Given the description of an element on the screen output the (x, y) to click on. 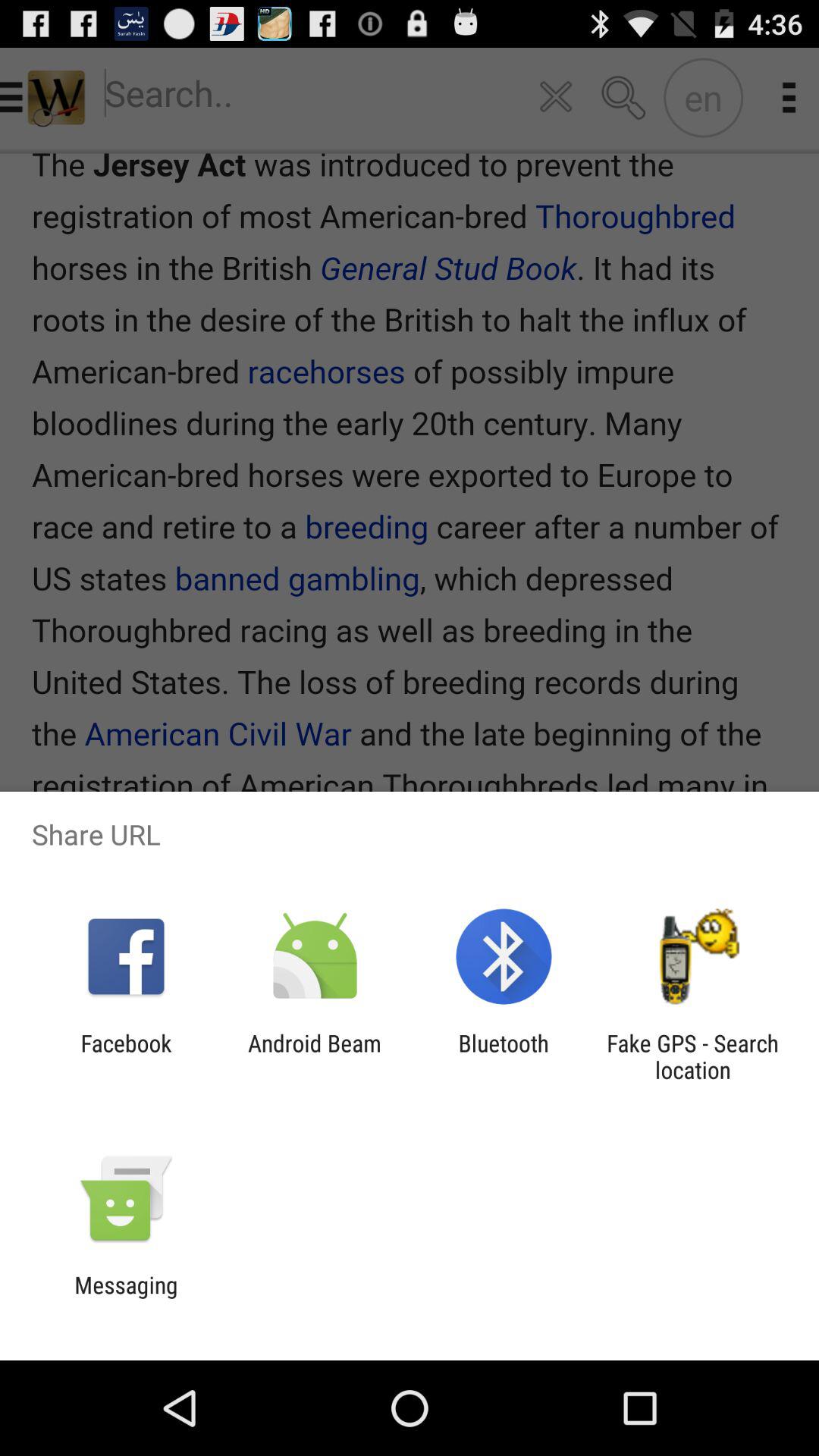
launch the item next to bluetooth app (314, 1056)
